Given the description of an element on the screen output the (x, y) to click on. 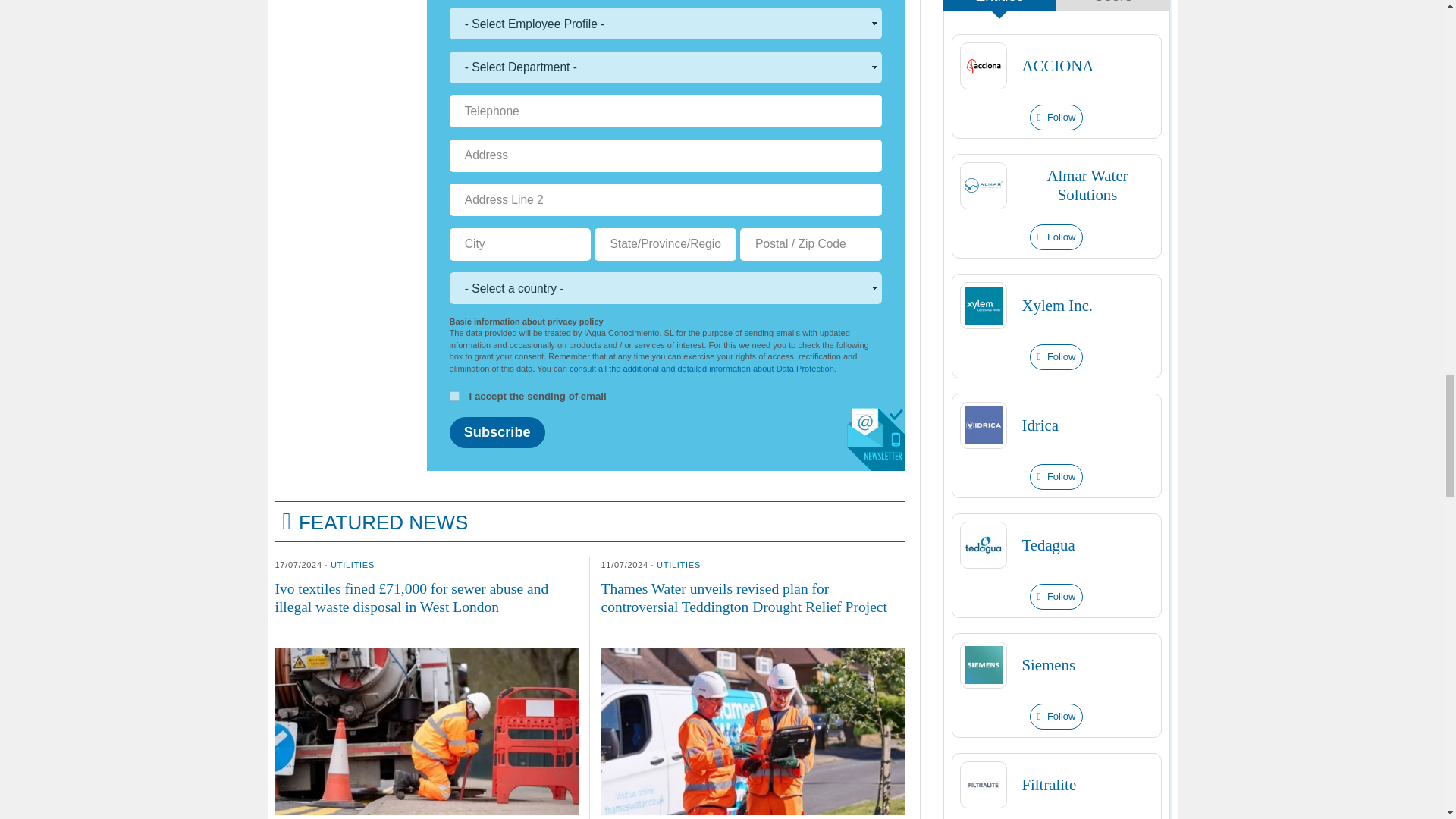
Y (453, 396)
View more articles of Utilities (352, 564)
Subscribe (496, 431)
